Given the description of an element on the screen output the (x, y) to click on. 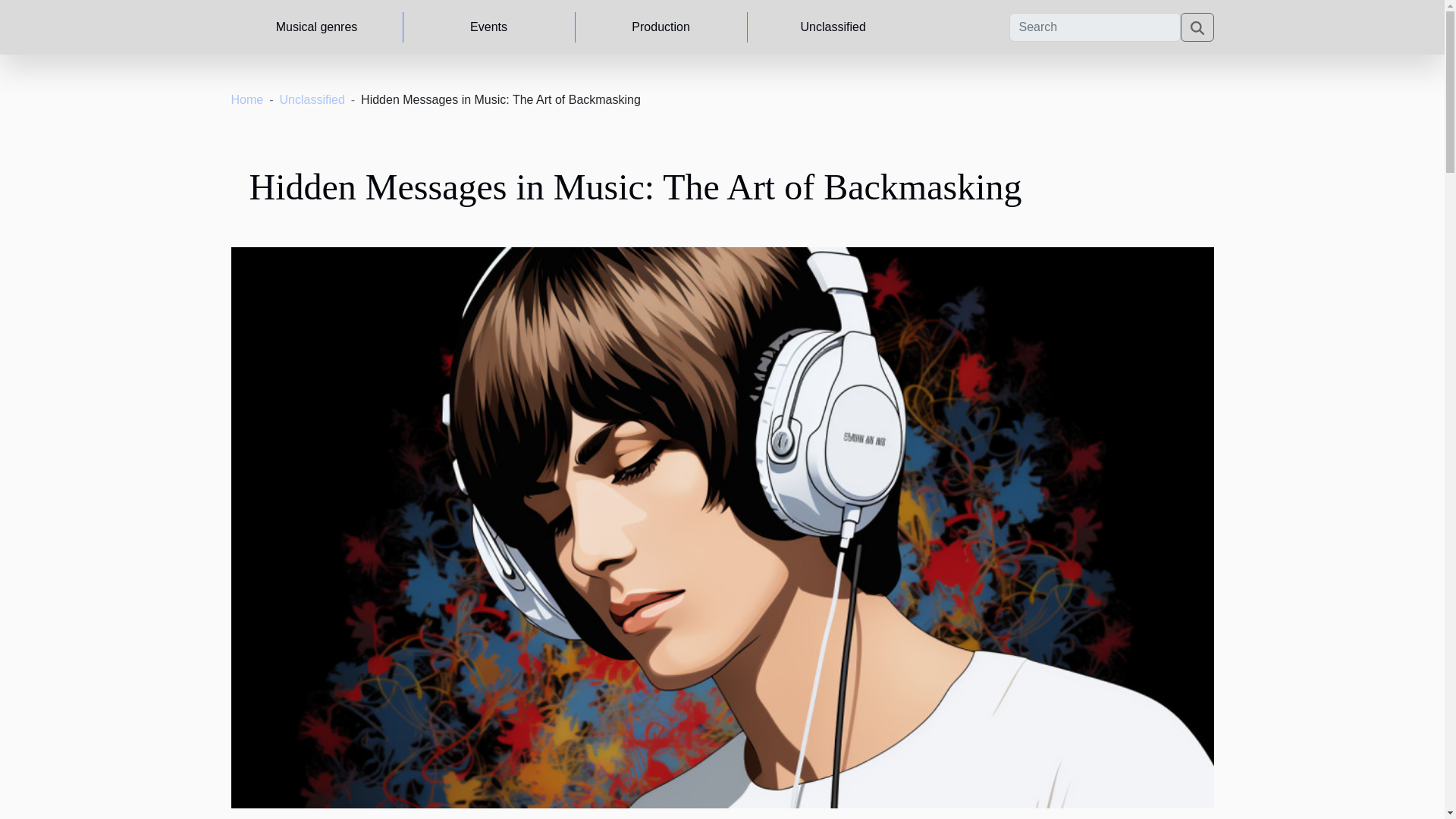
Unclassified (312, 99)
Events (488, 27)
Production (661, 27)
Home (246, 99)
Unclassified (833, 27)
Musical genres (316, 27)
Unclassified (312, 99)
